Given the description of an element on the screen output the (x, y) to click on. 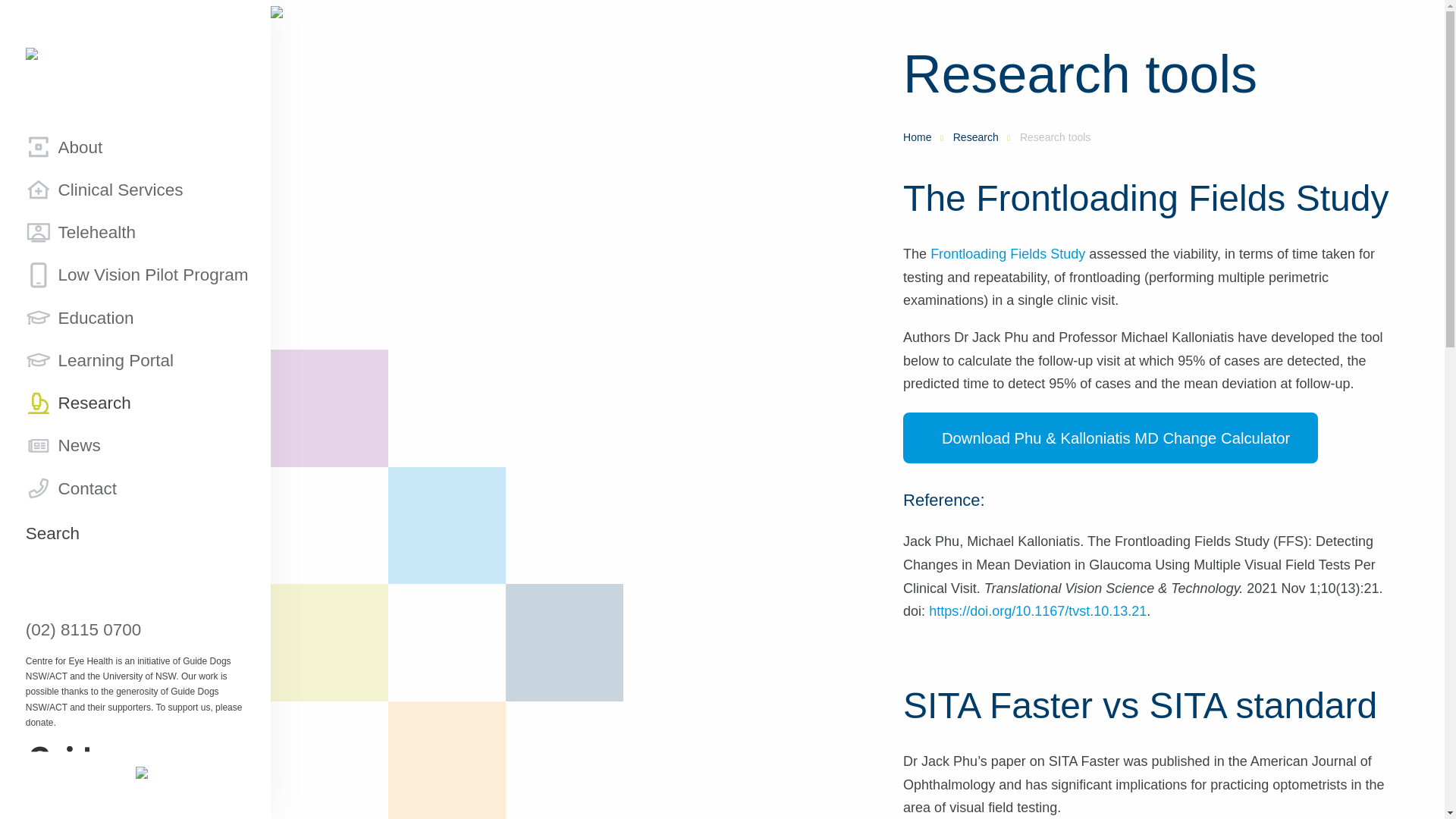
Telehealth (74, 231)
Low Vision Pilot Program (130, 274)
News (56, 445)
Learning Portal (93, 360)
Contact (64, 487)
Research (78, 402)
About (57, 147)
Centre for Eye Health (135, 52)
Education (73, 317)
Clinical Services (97, 189)
